Given the description of an element on the screen output the (x, y) to click on. 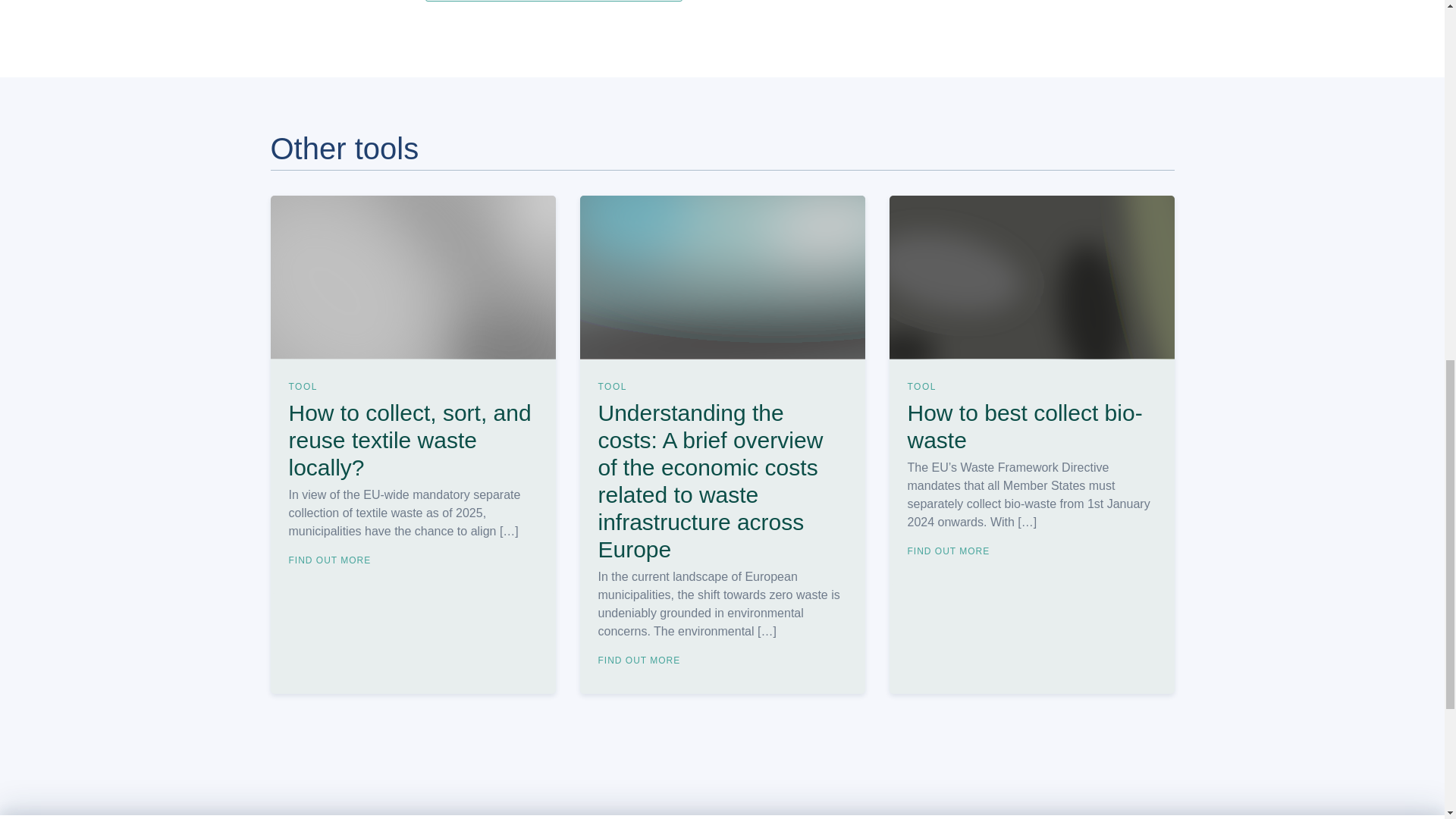
FIND OUT MORE (642, 660)
FIND OUT MORE (334, 560)
How to best collect bio-waste (1031, 428)
How to collect, sort, and reuse textile waste locally? (412, 442)
FIND OUT MORE (952, 551)
